Given the description of an element on the screen output the (x, y) to click on. 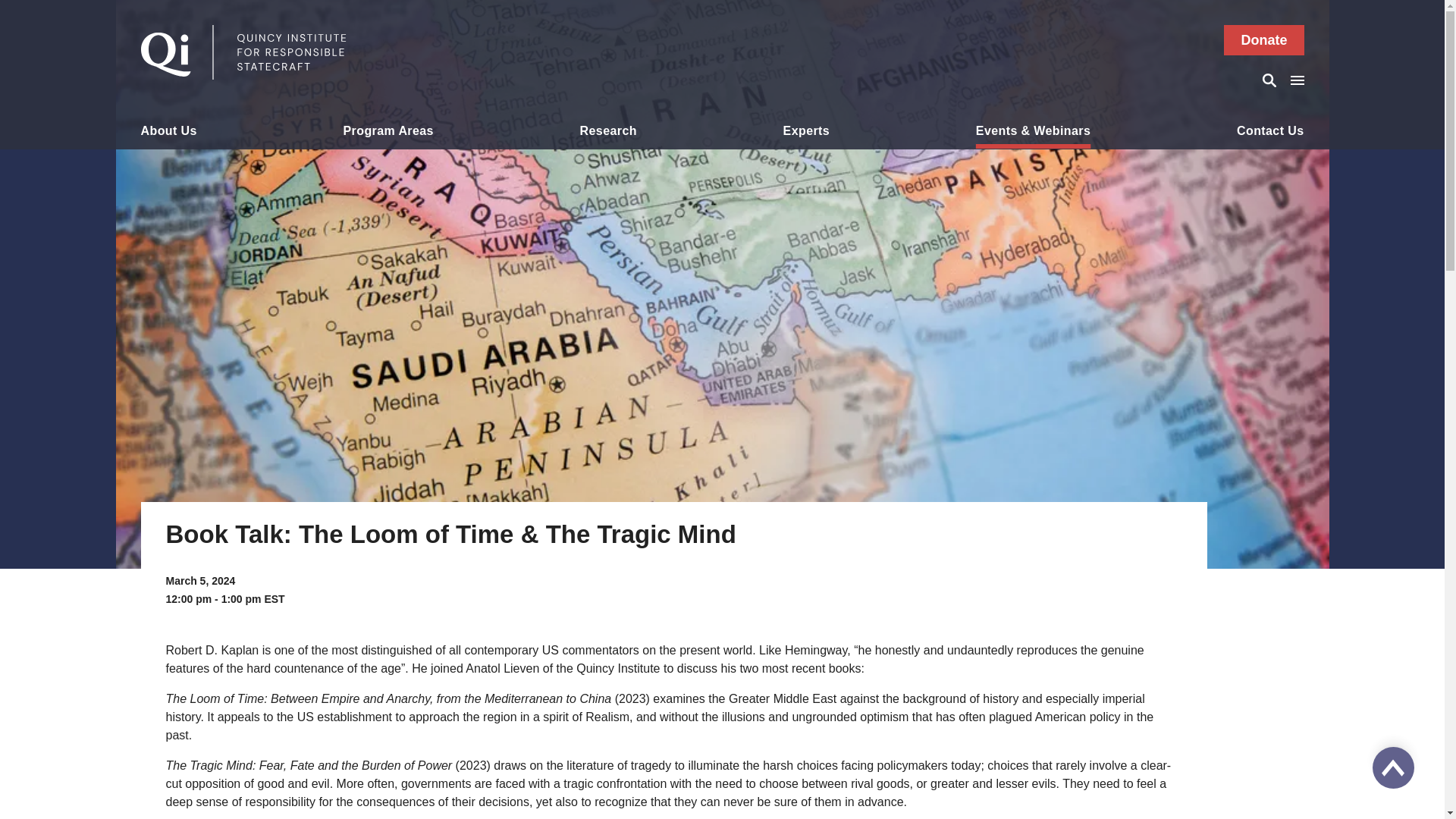
Scroll to top of page. (1393, 767)
Contact Us (1269, 133)
Scroll to Top (1393, 767)
Experts (806, 133)
Democratizing Foreign Policy (388, 167)
East Asia (388, 159)
Search (1270, 80)
About Us (168, 133)
Donate (1263, 40)
Research (608, 133)
Our Principles (168, 159)
Program Areas (388, 133)
